Given the description of an element on the screen output the (x, y) to click on. 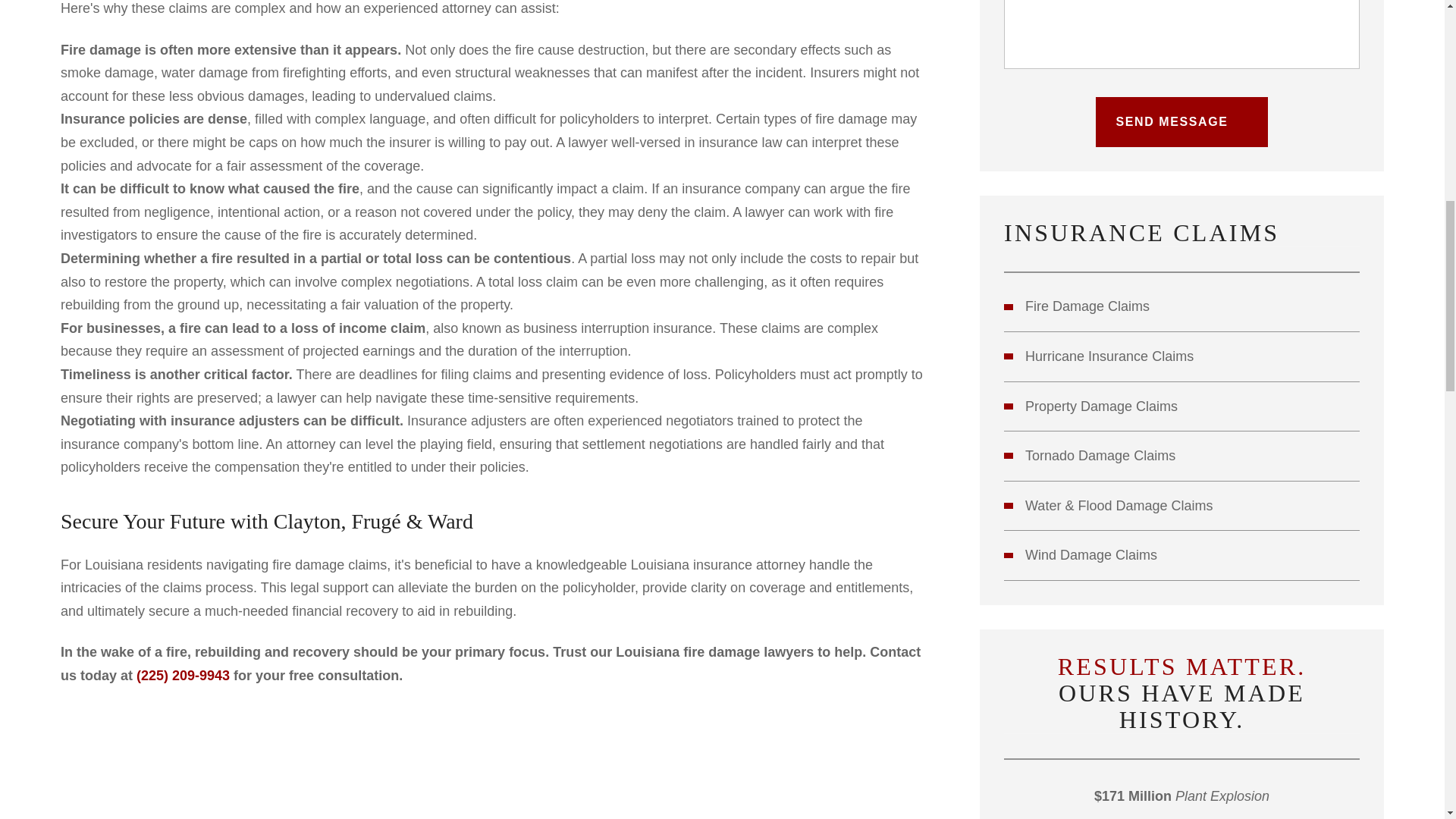
View next item (1188, 813)
SEND MESSAGE (1181, 122)
Fire Damage Claims (1181, 306)
View previous item (1175, 813)
